Given the description of an element on the screen output the (x, y) to click on. 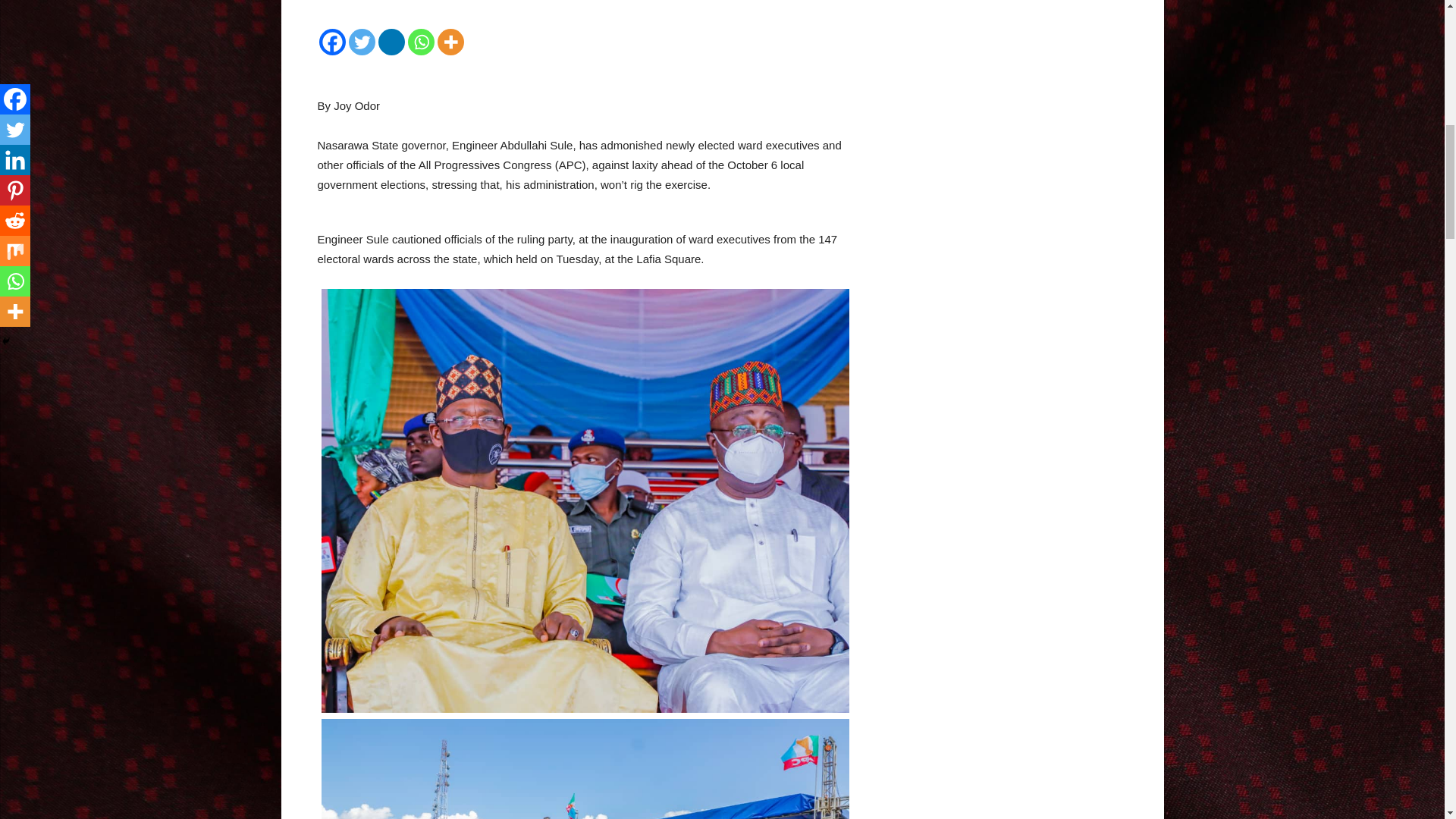
Linkedin (390, 41)
Whatsapp (420, 41)
Twitter (362, 41)
More (449, 41)
Facebook (331, 41)
